Given the description of an element on the screen output the (x, y) to click on. 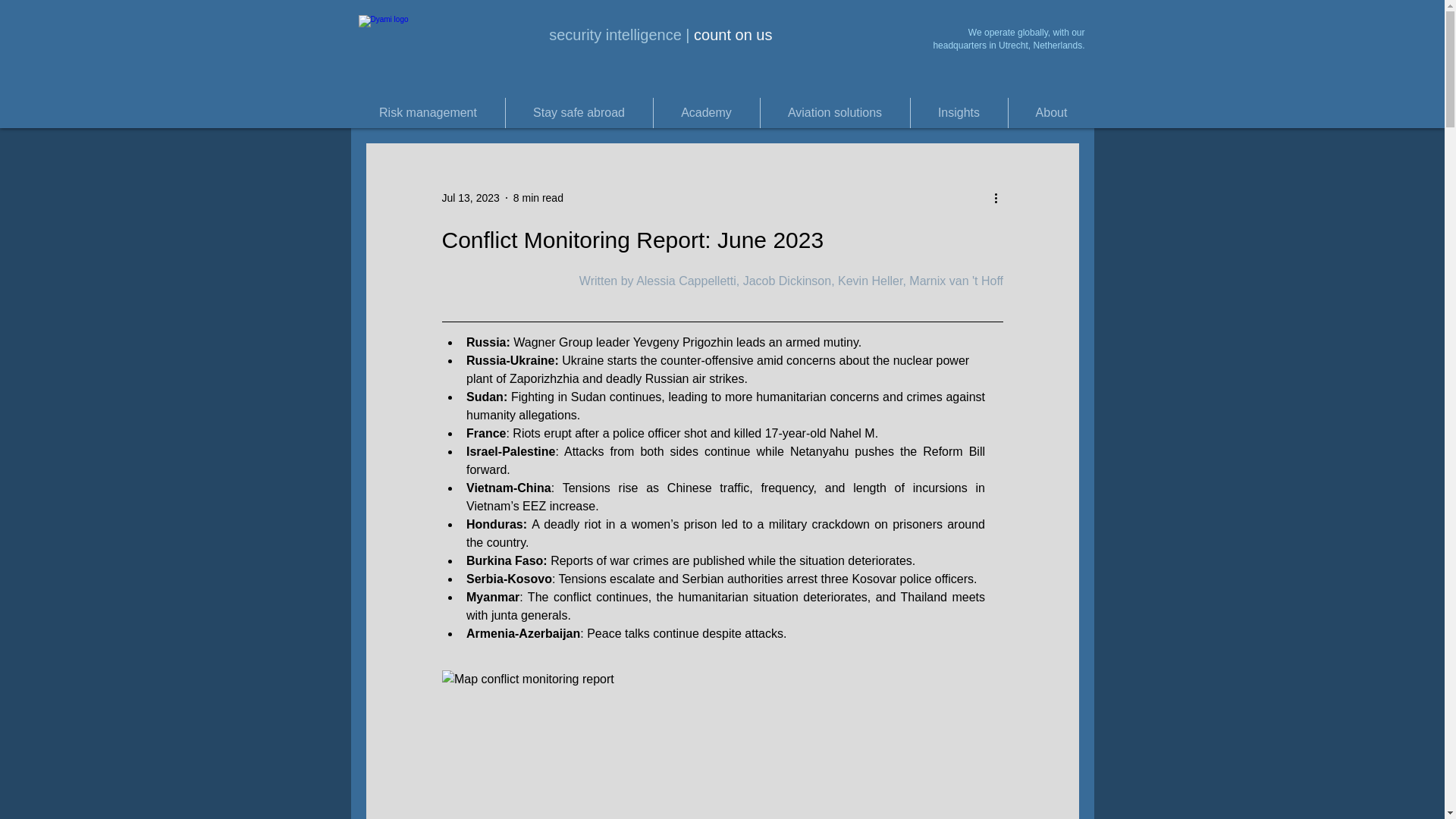
Jul 13, 2023 (470, 196)
8 min read (538, 196)
Academy (705, 112)
